Given the description of an element on the screen output the (x, y) to click on. 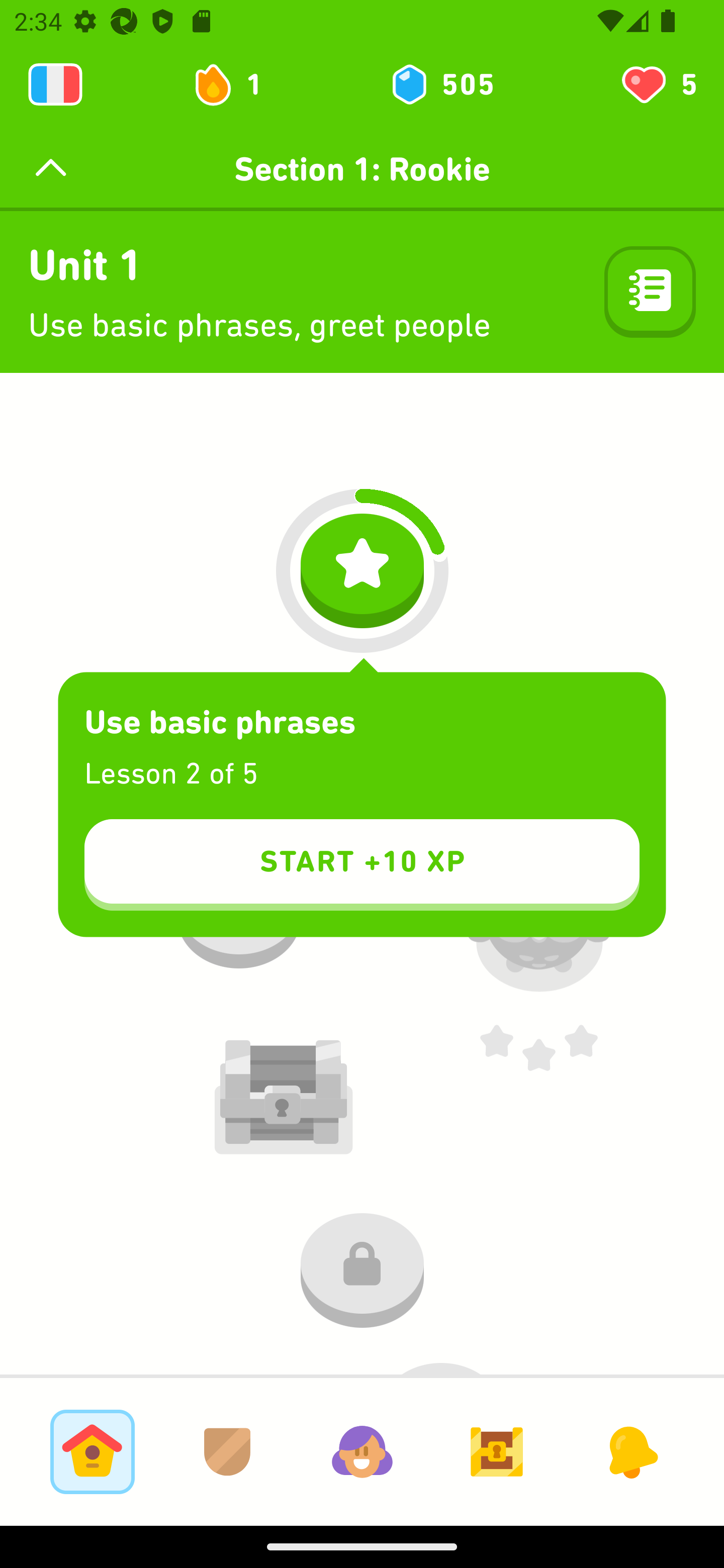
Learning 2131888976 (55, 84)
1 day streak 1 (236, 84)
505 (441, 84)
You have 5 hearts left 5 (657, 84)
Section 1: Rookie (362, 169)
Use basic phrases Lesson 2 of 5 START +10 XP (361, 805)
START +10 XP (361, 864)
Learn Tab (91, 1451)
Leagues Tab (227, 1451)
Profile Tab (361, 1451)
Goals Tab (496, 1451)
News Tab (631, 1451)
